Given the description of an element on the screen output the (x, y) to click on. 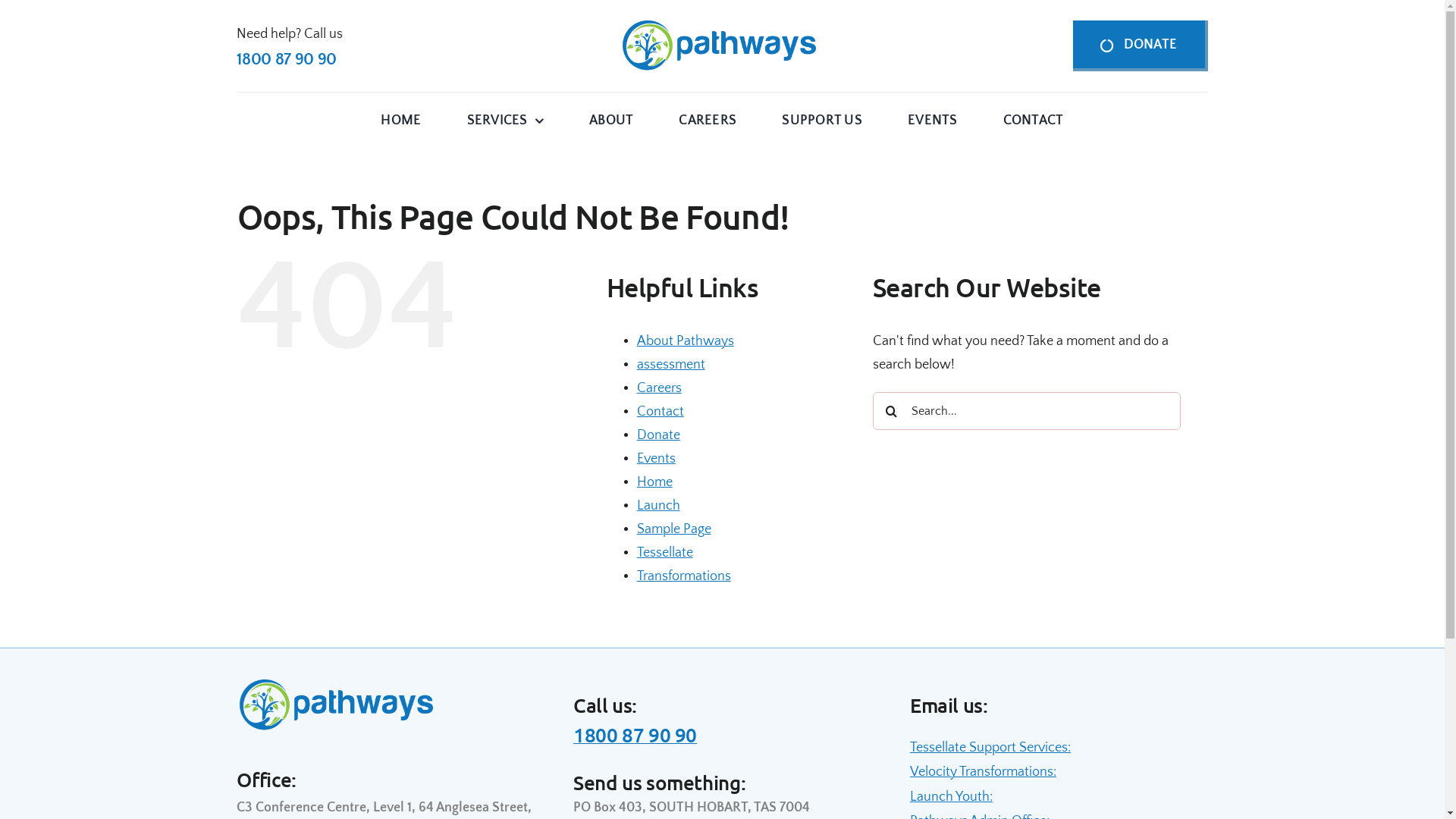
SERVICES Element type: text (505, 119)
Launch Youth: Element type: text (951, 796)
Sample Page Element type: text (674, 528)
Launch Element type: text (658, 505)
ABOUT Element type: text (611, 119)
SUPPORT US Element type: text (821, 119)
Tessellate Support Services: Element type: text (990, 747)
Donate Element type: text (658, 434)
Events Element type: text (656, 458)
Contact Element type: text (660, 411)
Transformations Element type: text (684, 575)
Tessellate Element type: text (665, 552)
Careers Element type: text (659, 387)
EVENTS Element type: text (932, 119)
DONATE Element type: text (1140, 45)
assessment Element type: text (671, 364)
Velocity Transformations: Element type: text (983, 771)
1800 87 90 90 Element type: text (634, 733)
About Pathways Element type: text (685, 340)
HOME Element type: text (400, 119)
CAREERS Element type: text (707, 119)
CONTACT Element type: text (1033, 119)
Home Element type: text (654, 481)
